Given the description of an element on the screen output the (x, y) to click on. 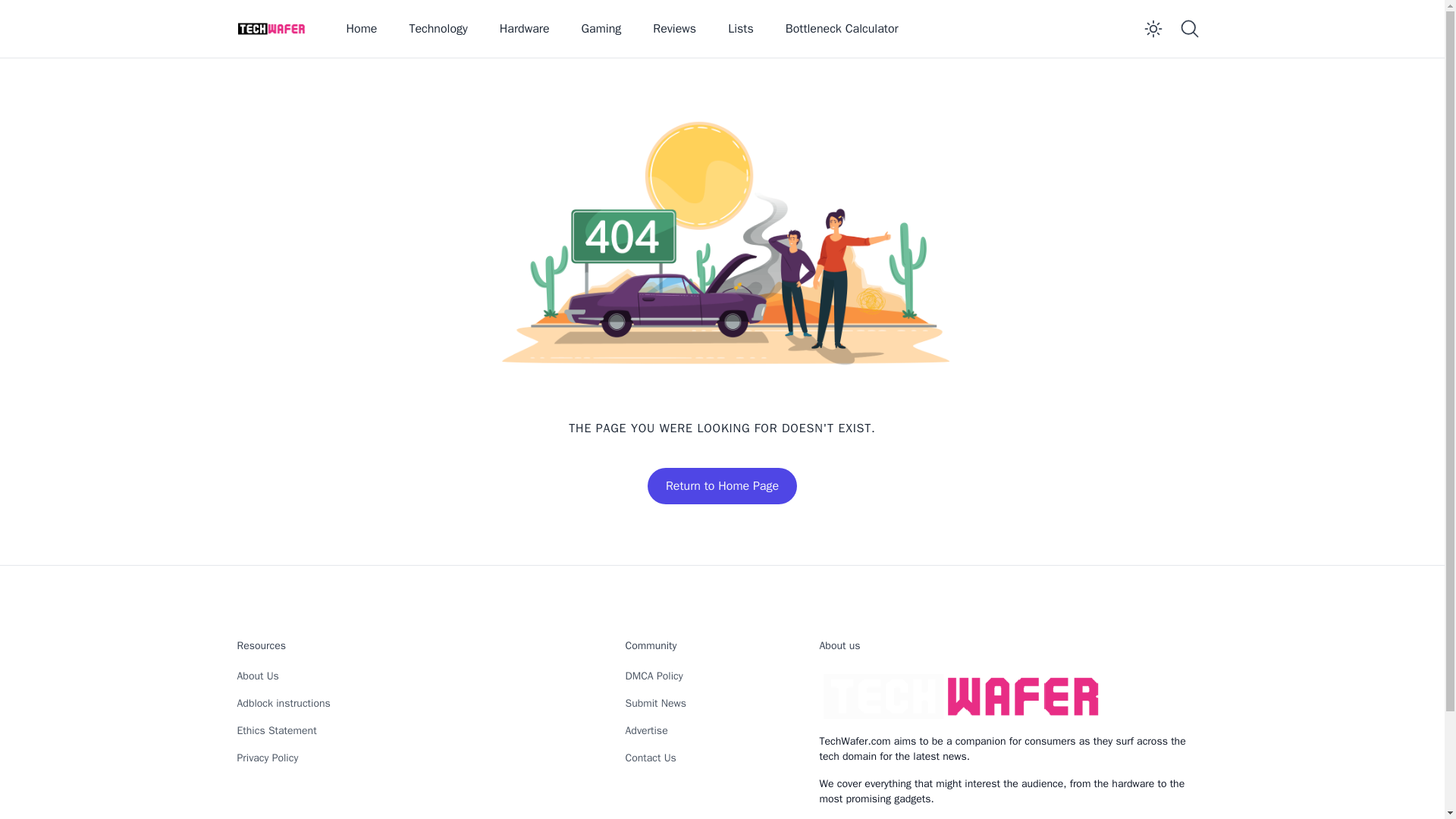
Ethics Statement (275, 730)
DMCA Policy (653, 675)
Advertise (645, 730)
Hardware (524, 28)
Enable dark mode (1152, 28)
Return to Home Page (721, 485)
Home (360, 28)
Contact Us (649, 757)
About Us (256, 675)
Bottleneck Calculator (841, 28)
